Given the description of an element on the screen output the (x, y) to click on. 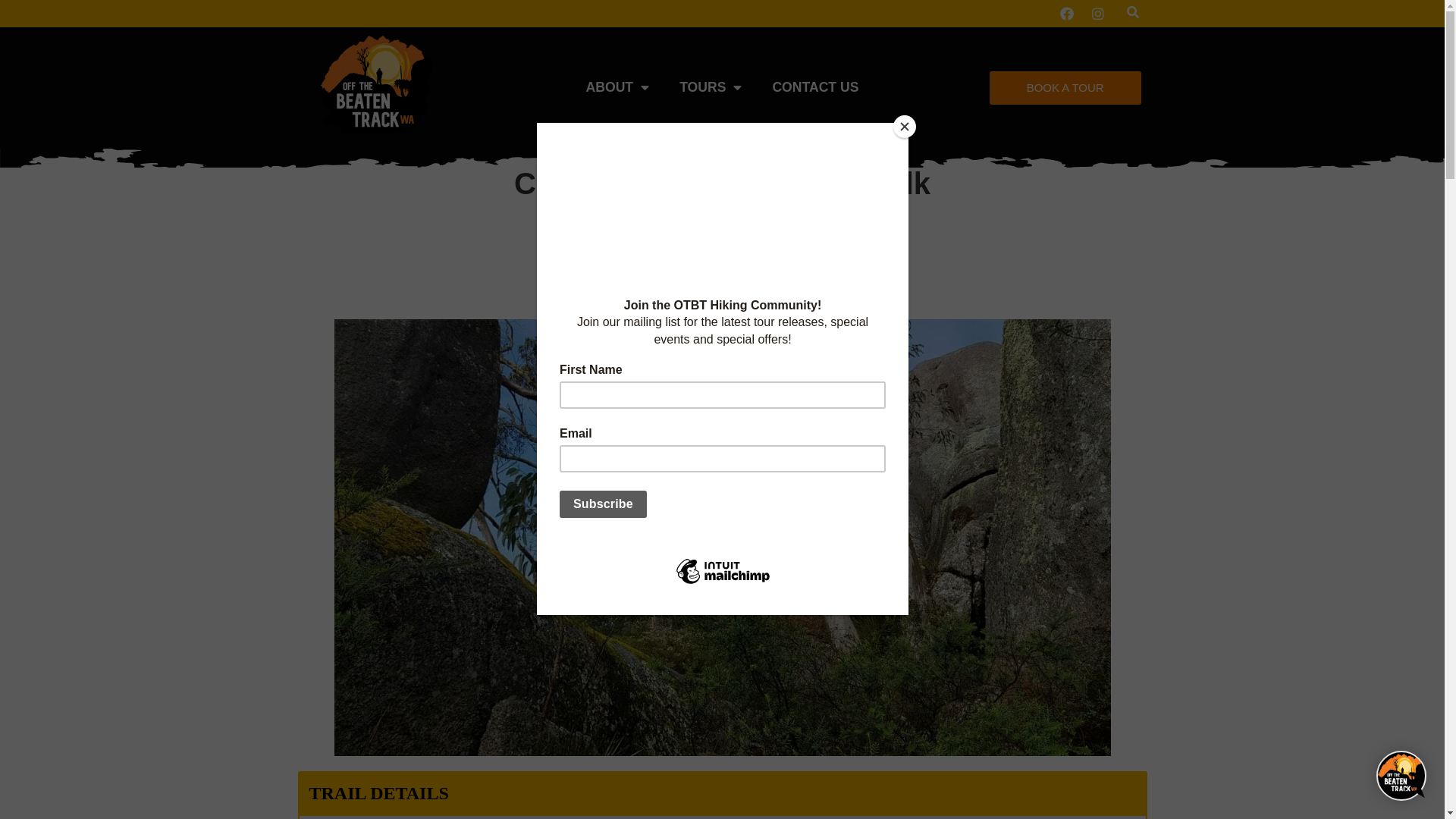
ABOUT Element type: text (618, 87)
BOOK A TOUR Element type: text (1064, 87)
Tracy Lindsey Element type: text (646, 268)
Trail Talk Element type: text (811, 234)
CONTACT US Element type: text (814, 87)
Great Southern Element type: text (727, 234)
TOURS Element type: text (710, 87)
September 24, 2021 Element type: text (779, 268)
